Given the description of an element on the screen output the (x, y) to click on. 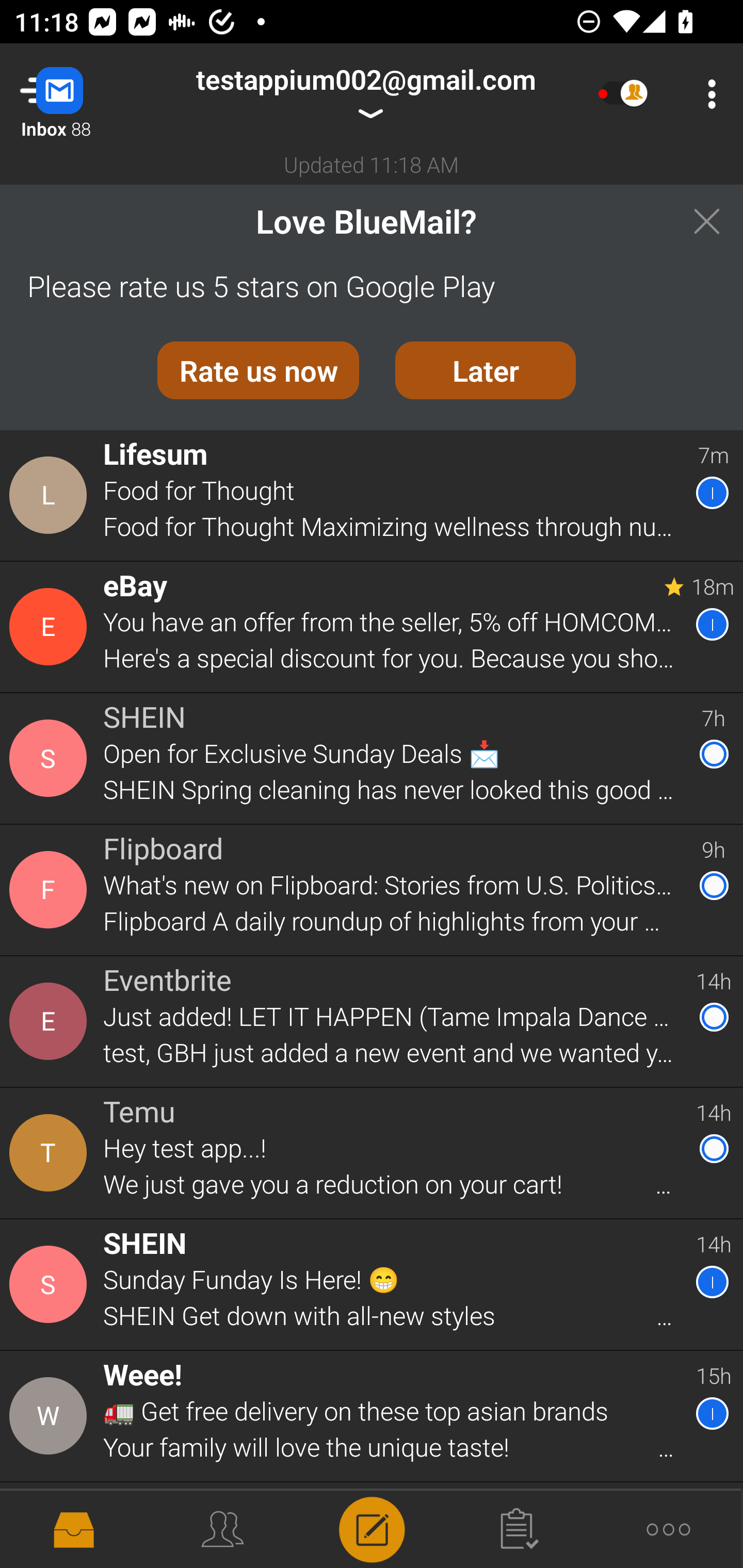
Navigate up (81, 93)
testappium002@gmail.com (365, 93)
More Options (706, 93)
Updated 11:18 AM (371, 164)
Rate us now (257, 370)
Later (485, 370)
Contact Details (50, 495)
Contact Details (50, 626)
Contact Details (50, 758)
Contact Details (50, 889)
Contact Details (50, 1021)
Contact Details (50, 1153)
Contact Details (50, 1284)
Contact Details (50, 1416)
Contact Details (50, 1524)
Compose (371, 1528)
